Given the description of an element on the screen output the (x, y) to click on. 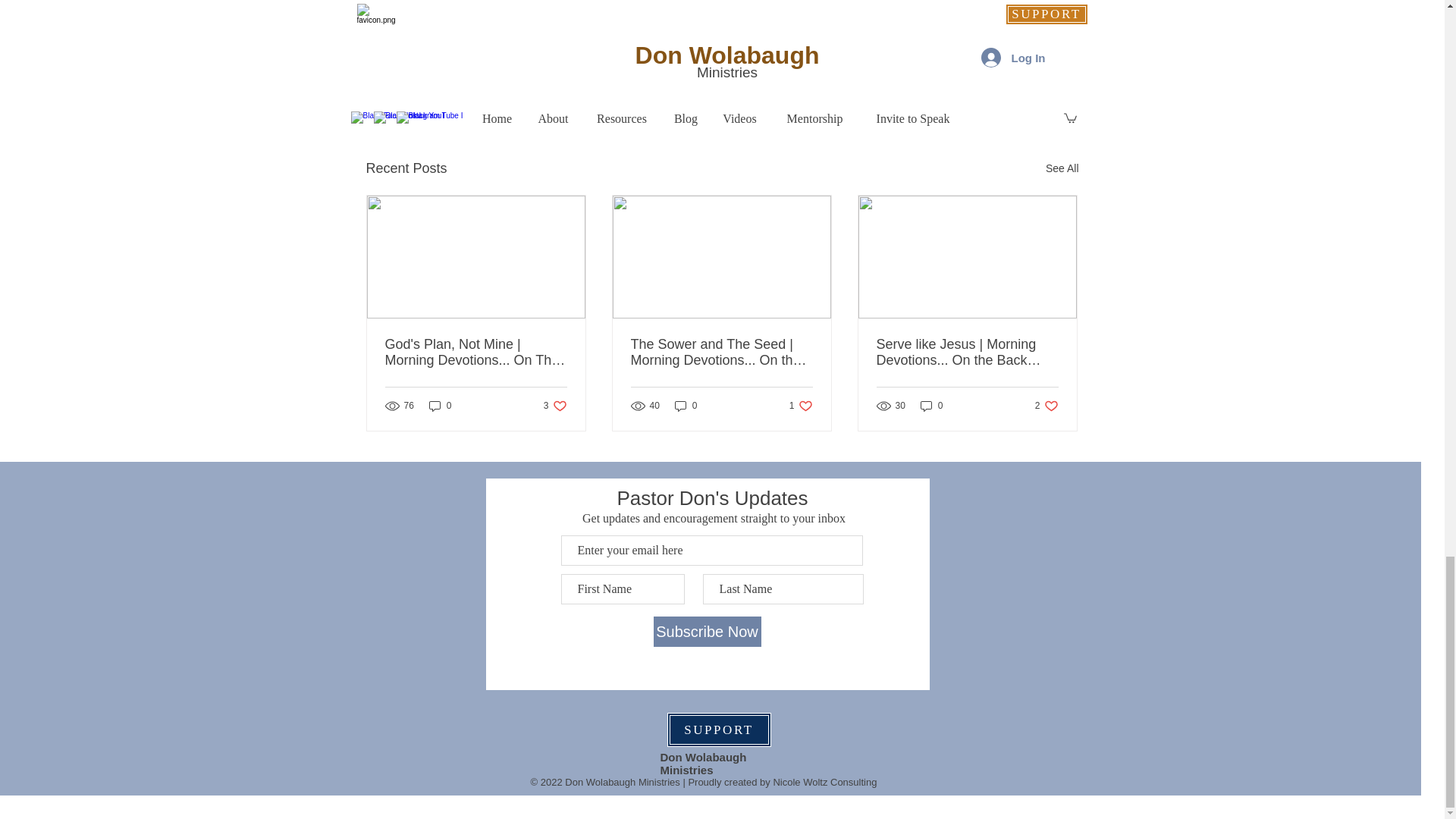
Post not marked as liked (800, 405)
See All (995, 85)
On the Back Porch with Coffee (555, 405)
0 (1061, 168)
0 (930, 40)
0 (931, 405)
